Given the description of an element on the screen output the (x, y) to click on. 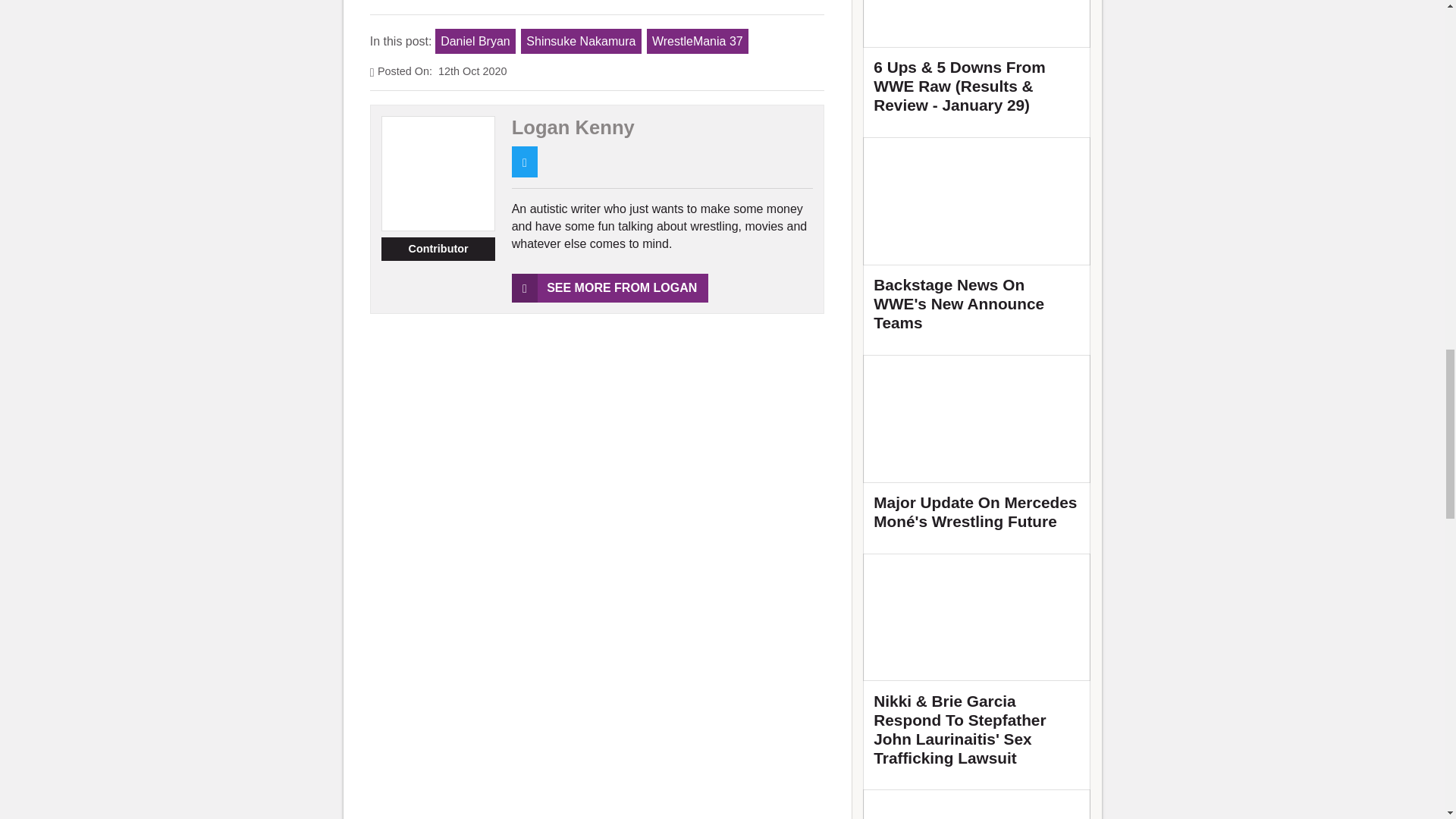
Contributor (438, 249)
Backstage News On WWE's New Announce Teams (976, 240)
